Given the description of an element on the screen output the (x, y) to click on. 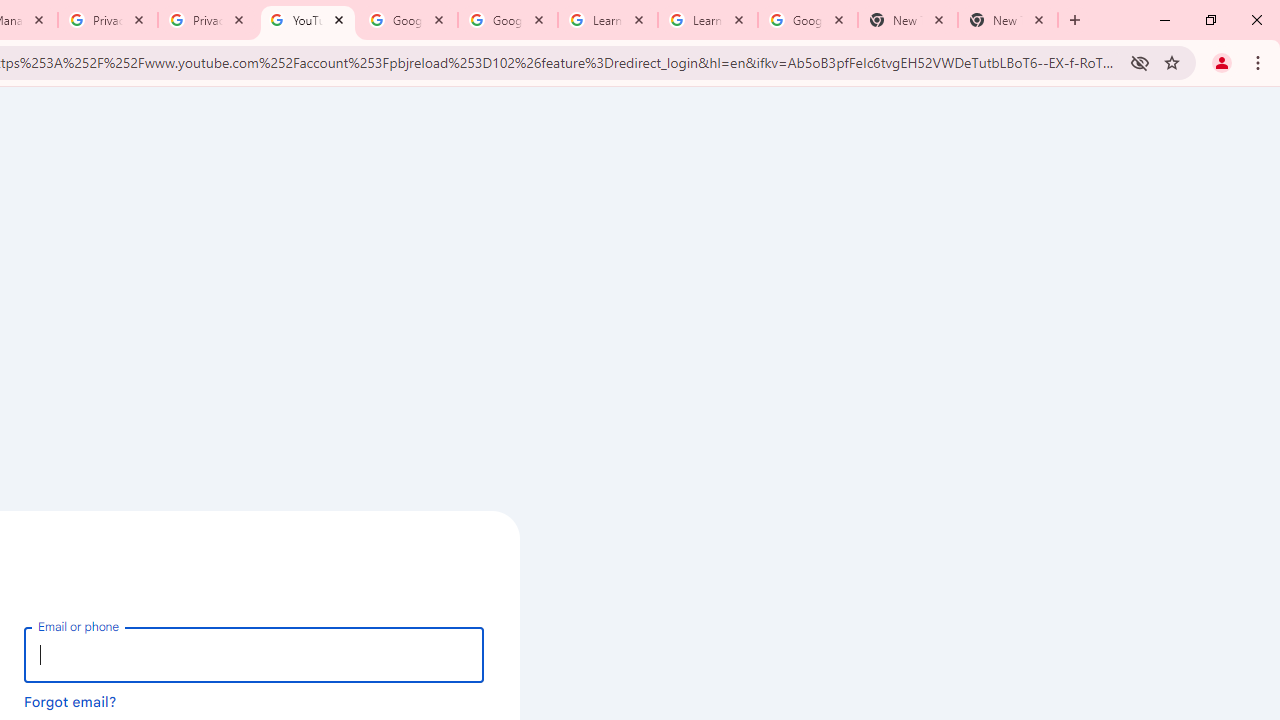
Google Account Help (508, 20)
Google Account (807, 20)
Forgot email? (70, 701)
Google Account Help (408, 20)
Email or phone (253, 654)
New Tab (1007, 20)
